Given the description of an element on the screen output the (x, y) to click on. 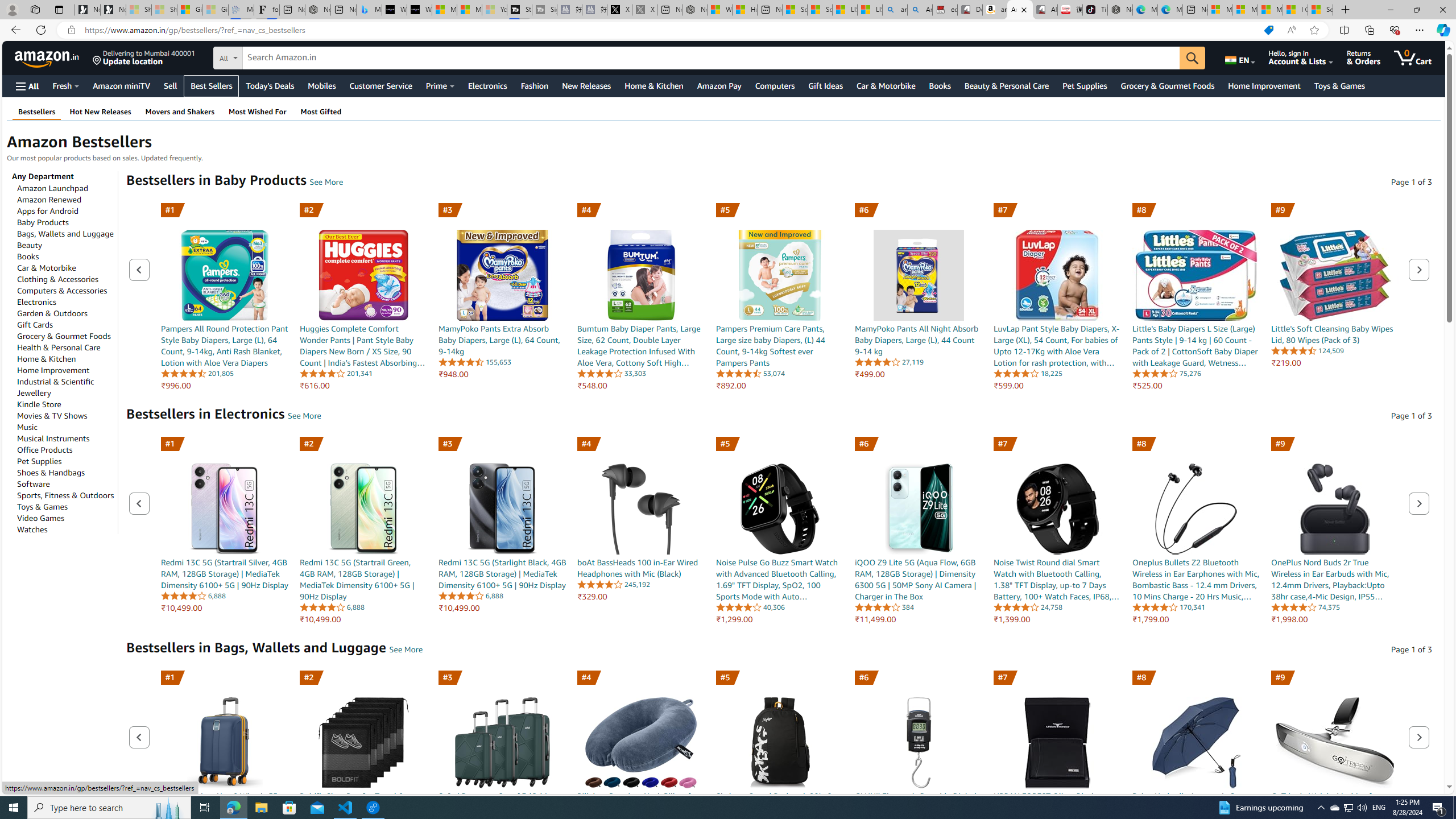
Software (33, 483)
Hello, sign in Account & Lists (1301, 57)
Gift Ideas (825, 85)
Nordace - Best Sellers (1119, 9)
Gift Cards (34, 324)
